Given the description of an element on the screen output the (x, y) to click on. 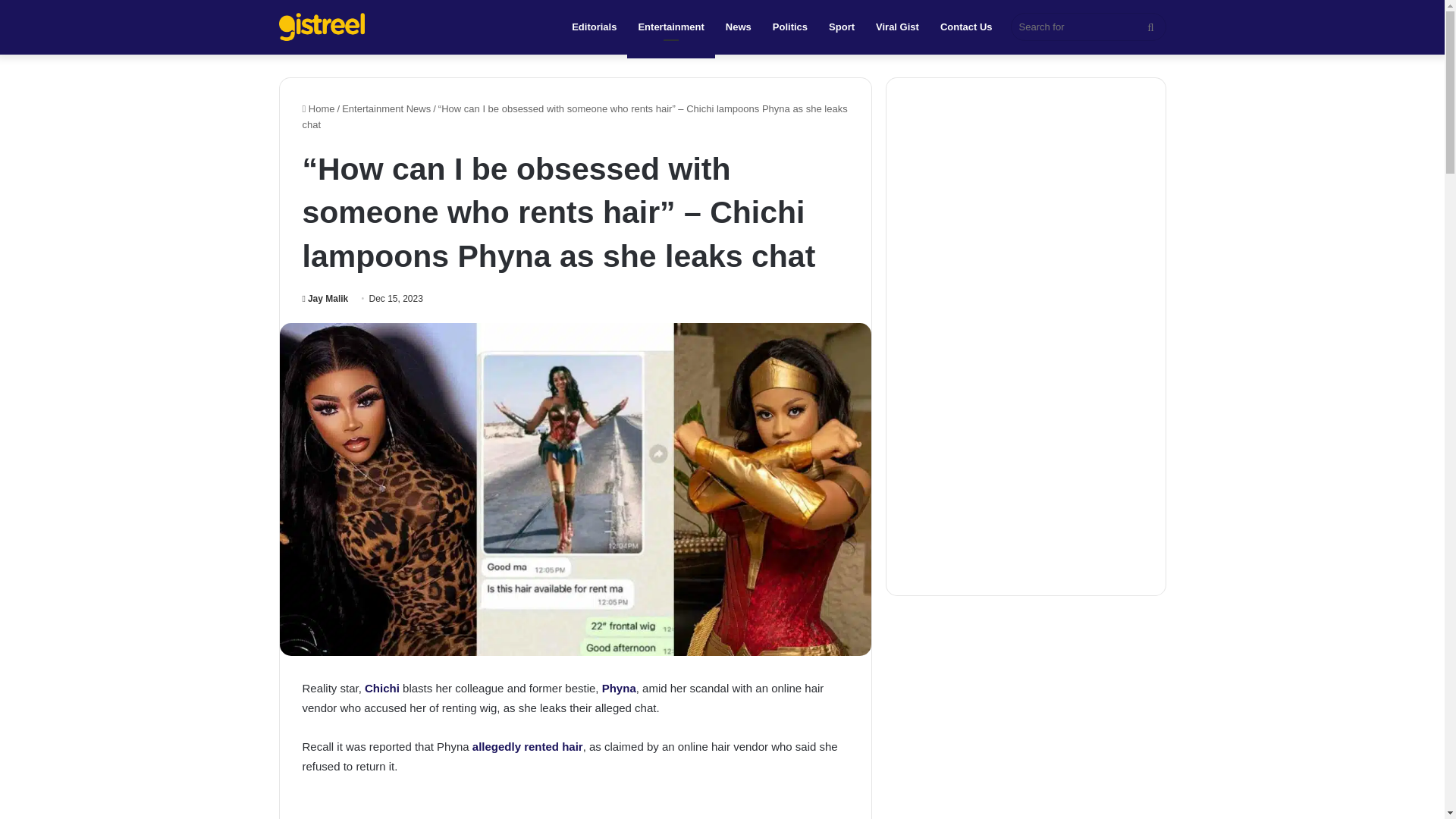
allegedly rented hair (527, 746)
Jay Malik (324, 298)
Phyna (619, 687)
Contact Us (966, 27)
Viral Gist (897, 27)
Search for (1088, 26)
Editorials (593, 27)
Chichi (381, 687)
Advertisement (574, 807)
Entertainment News (386, 108)
GistReel Entertainment (322, 26)
Home (317, 108)
Politics (789, 27)
Entertainment (670, 27)
Jay Malik (324, 298)
